Given the description of an element on the screen output the (x, y) to click on. 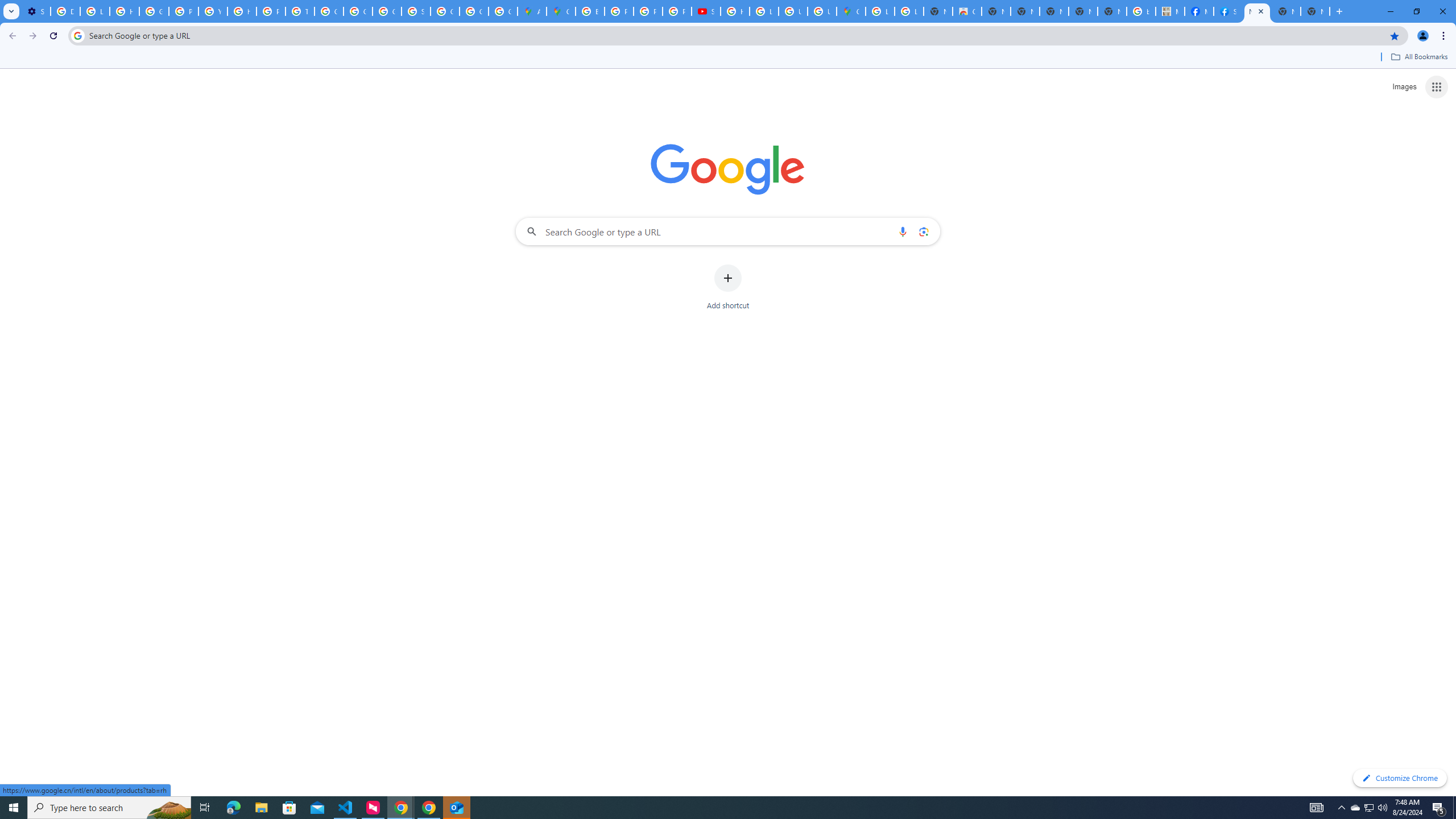
https://scholar.google.com/ (242, 11)
Sign Up for Facebook (1227, 11)
Privacy Help Center - Policies Help (271, 11)
Search Google or type a URL (727, 230)
Subscriptions - YouTube (705, 11)
